Given the description of an element on the screen output the (x, y) to click on. 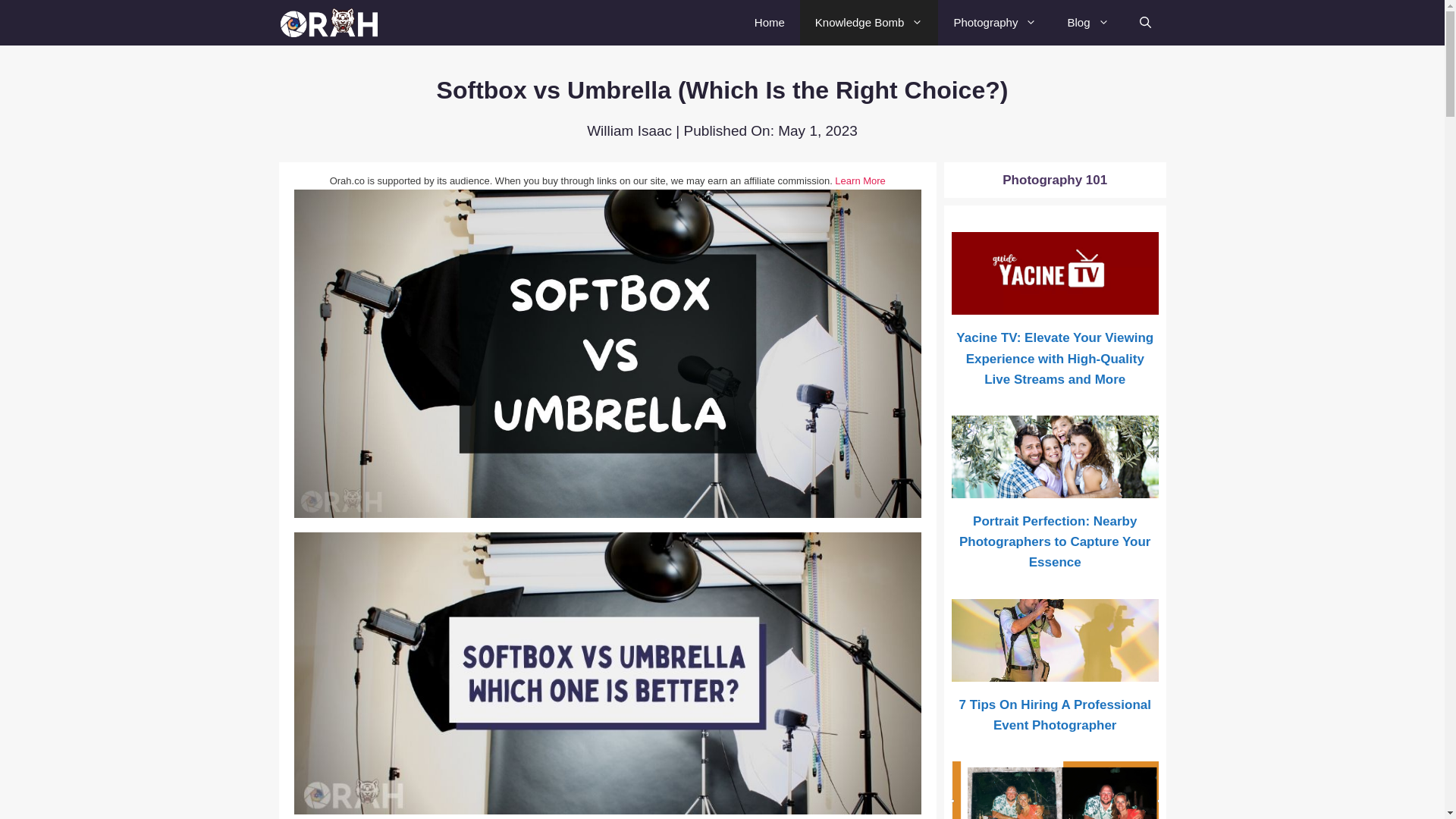
Home (769, 22)
Orah (331, 22)
Knowledge Bomb (869, 22)
Orah (335, 22)
View all posts by William Isaac (628, 130)
7 Tips On Hiring A Professional Event Photographer (1055, 670)
